Given the description of an element on the screen output the (x, y) to click on. 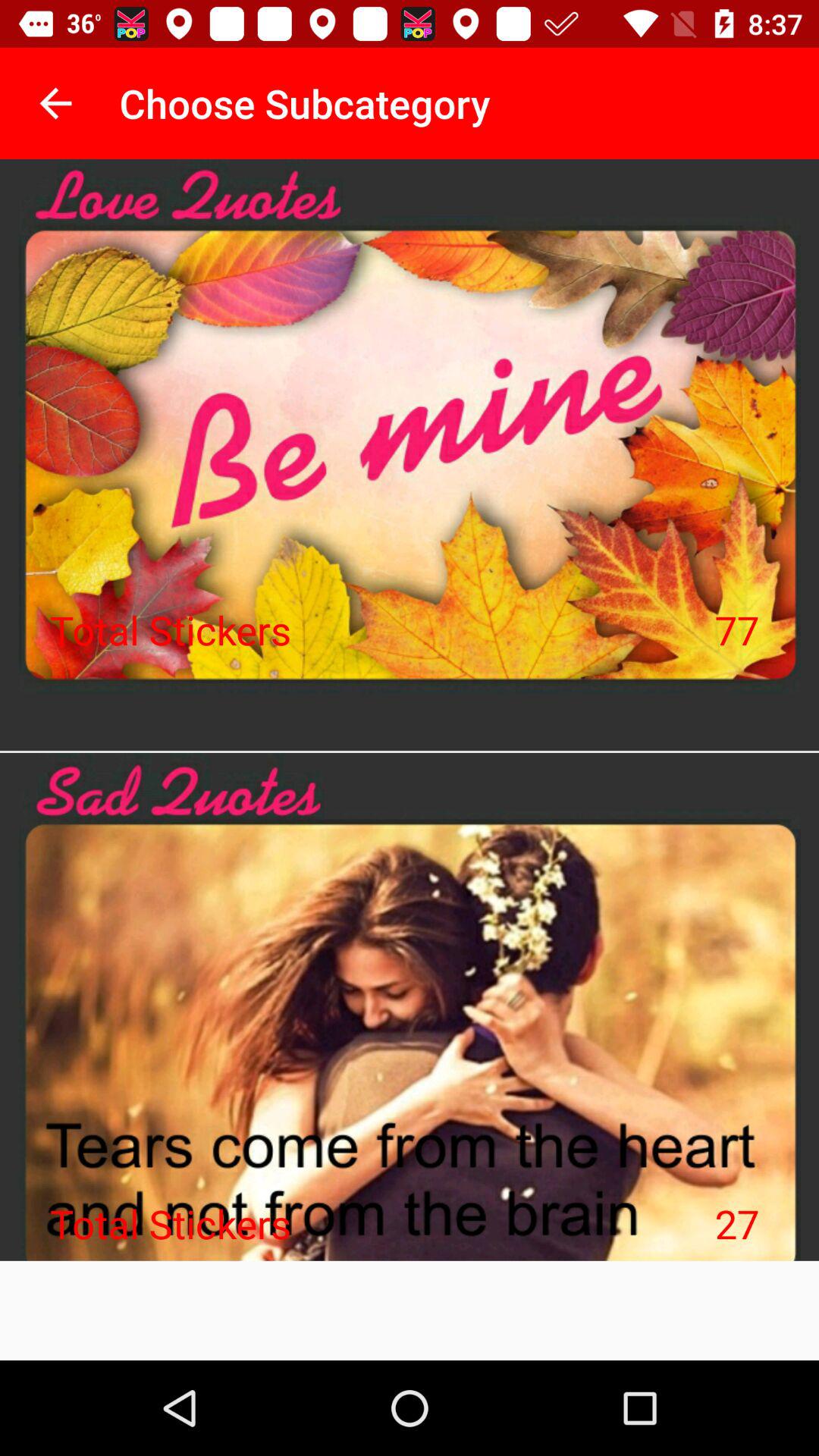
scroll to 27 (736, 1223)
